Given the description of an element on the screen output the (x, y) to click on. 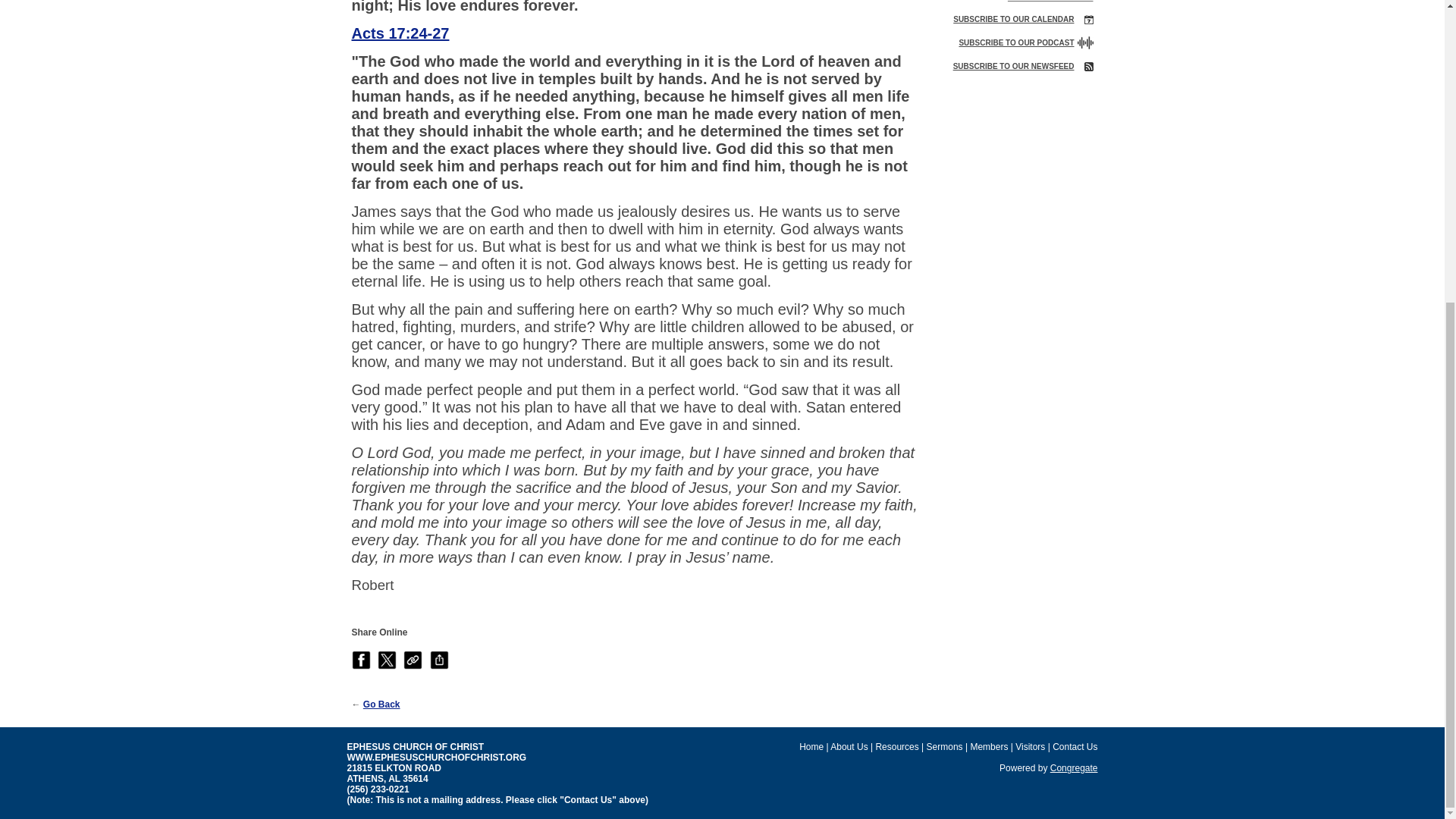
Twitter (386, 659)
Acts 17:24-27 (400, 33)
Facebook (361, 659)
Copy (412, 659)
Go Back (381, 704)
Share (438, 659)
